Given the description of an element on the screen output the (x, y) to click on. 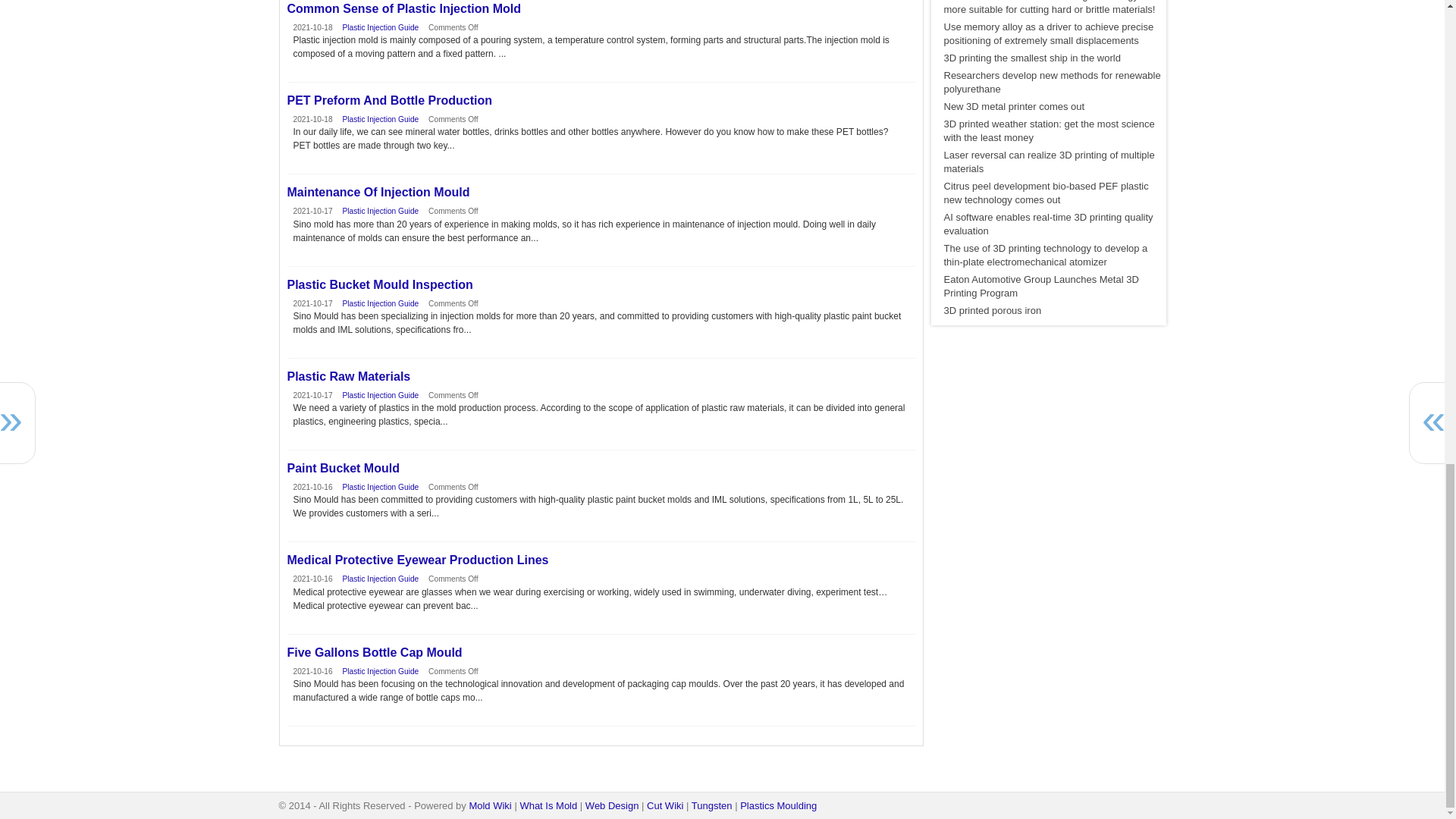
Paint Bucket Mould (600, 468)
Plastic Bucket Mould Inspection (600, 284)
Plastic Raw Materials (600, 377)
Common Sense of Plastic Injection Mold (600, 8)
PET Preform And Bottle Production (600, 100)
Medical Protective Eyewear Production Lines (600, 560)
Five Gallons Bottle Cap Mould (600, 653)
Maintenance Of Injection Mould (600, 192)
